Given the description of an element on the screen output the (x, y) to click on. 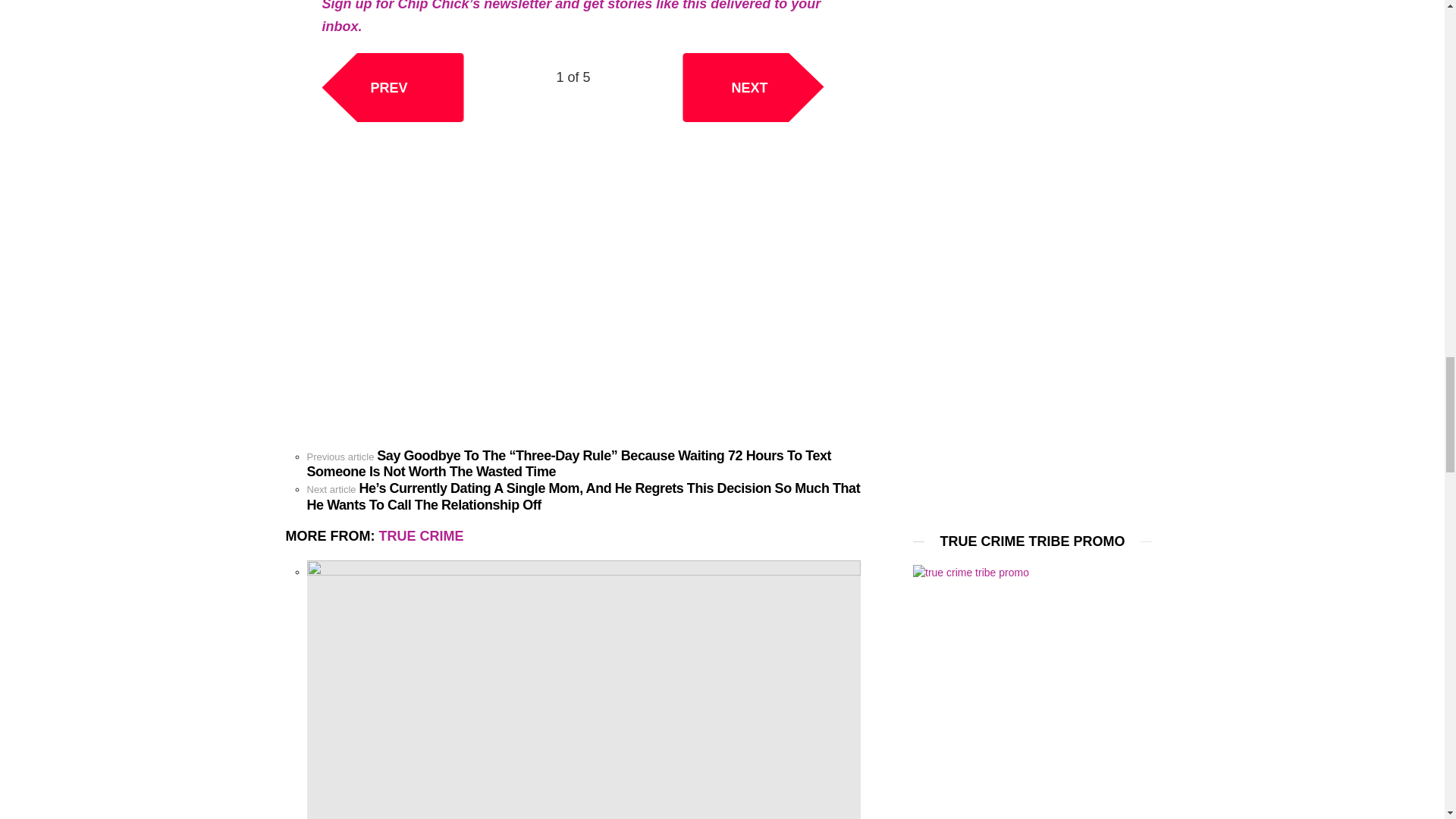
NEXT (753, 87)
PREV (392, 87)
